Given the description of an element on the screen output the (x, y) to click on. 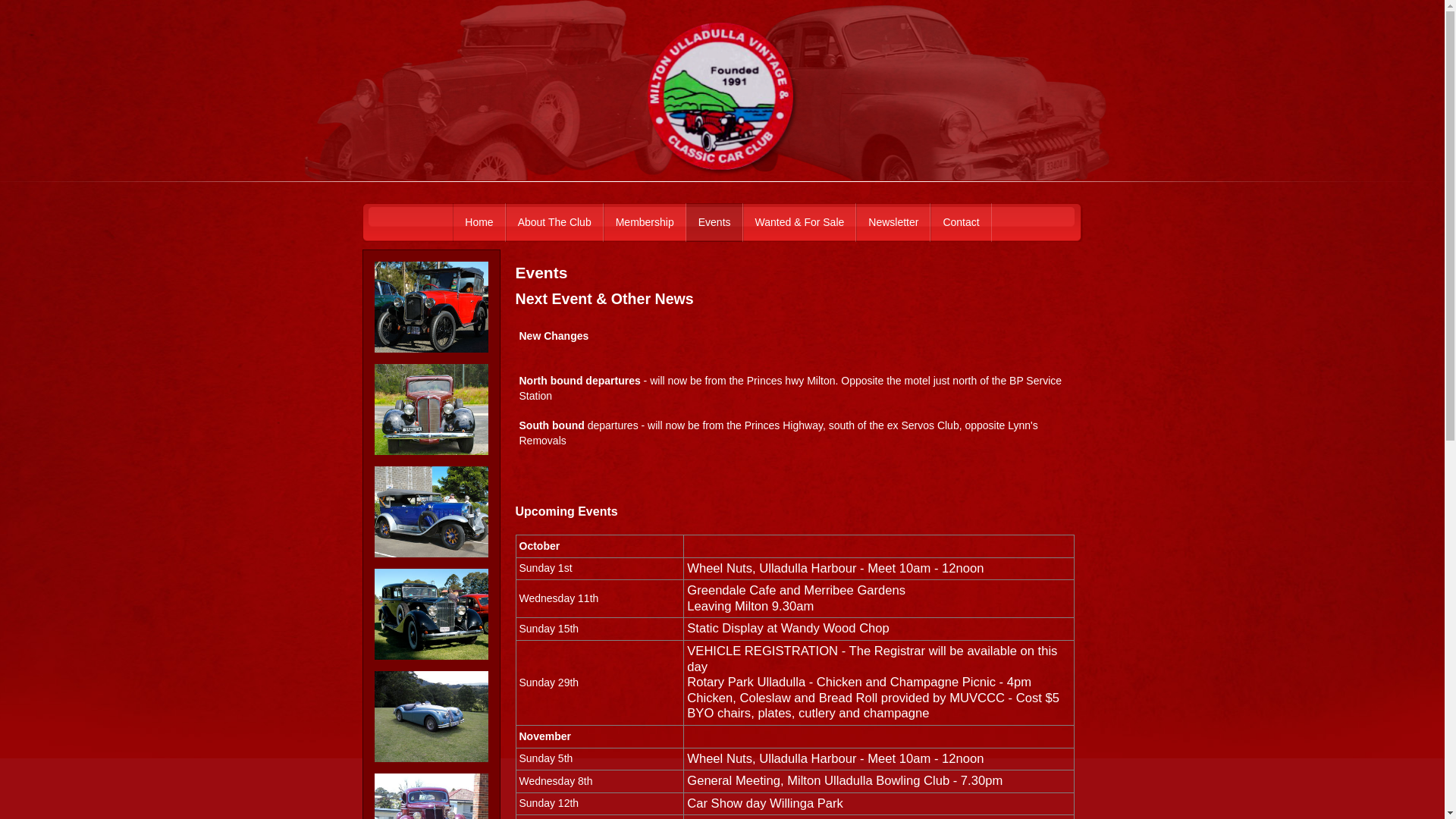
Events Element type: text (714, 222)
About The Club Element type: text (554, 222)
Home Element type: text (478, 222)
Wanted & For Sale Element type: text (799, 222)
Contact Element type: text (960, 222)
Newsletter Element type: text (892, 222)
Membership Element type: text (644, 222)
